Given the description of an element on the screen output the (x, y) to click on. 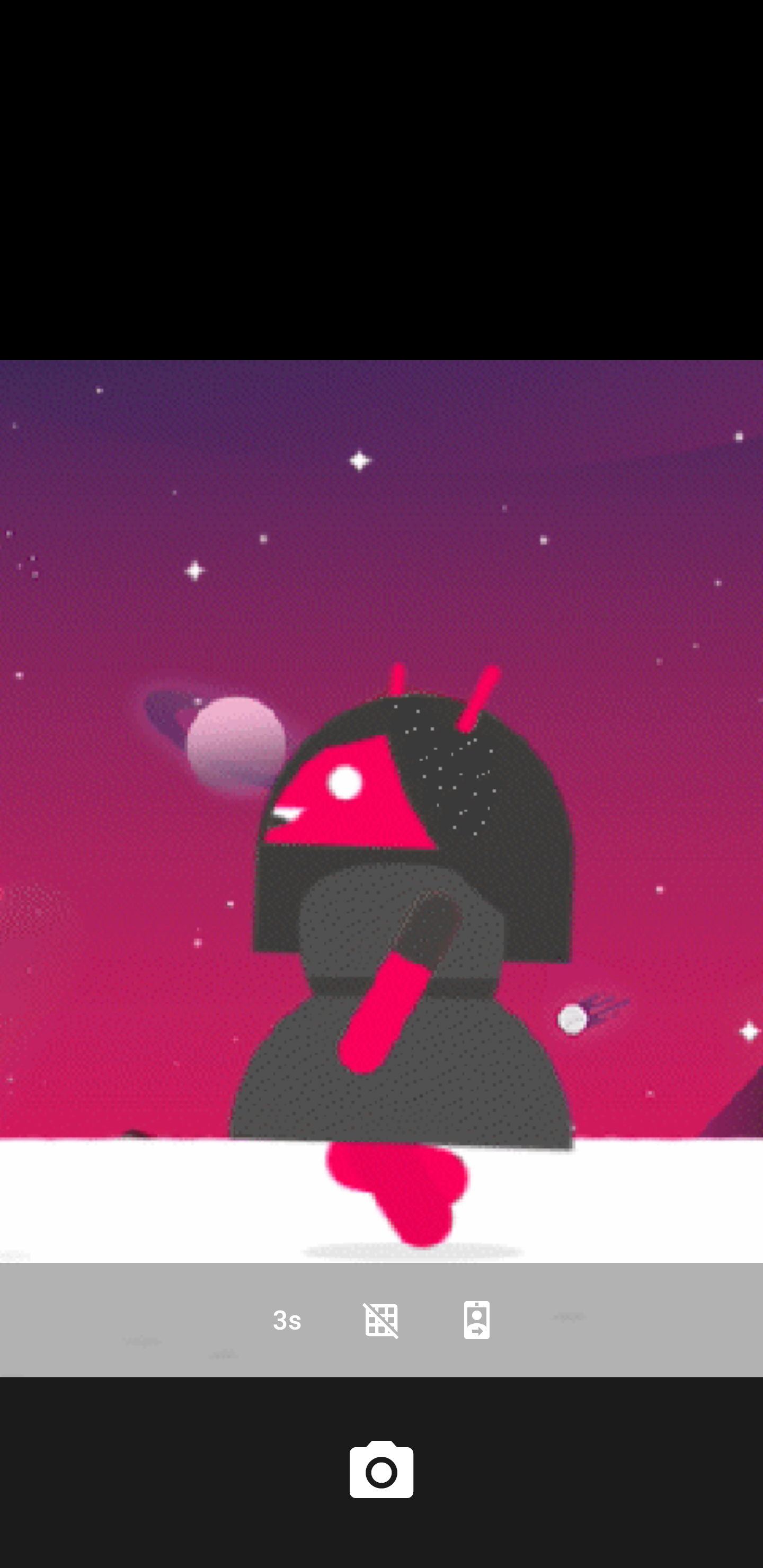
Countdown timer duration is set to 3 seconds (285, 1319)
Grid lines off (381, 1319)
Front camera (476, 1319)
Shutter (381, 1472)
